Given the description of an element on the screen output the (x, y) to click on. 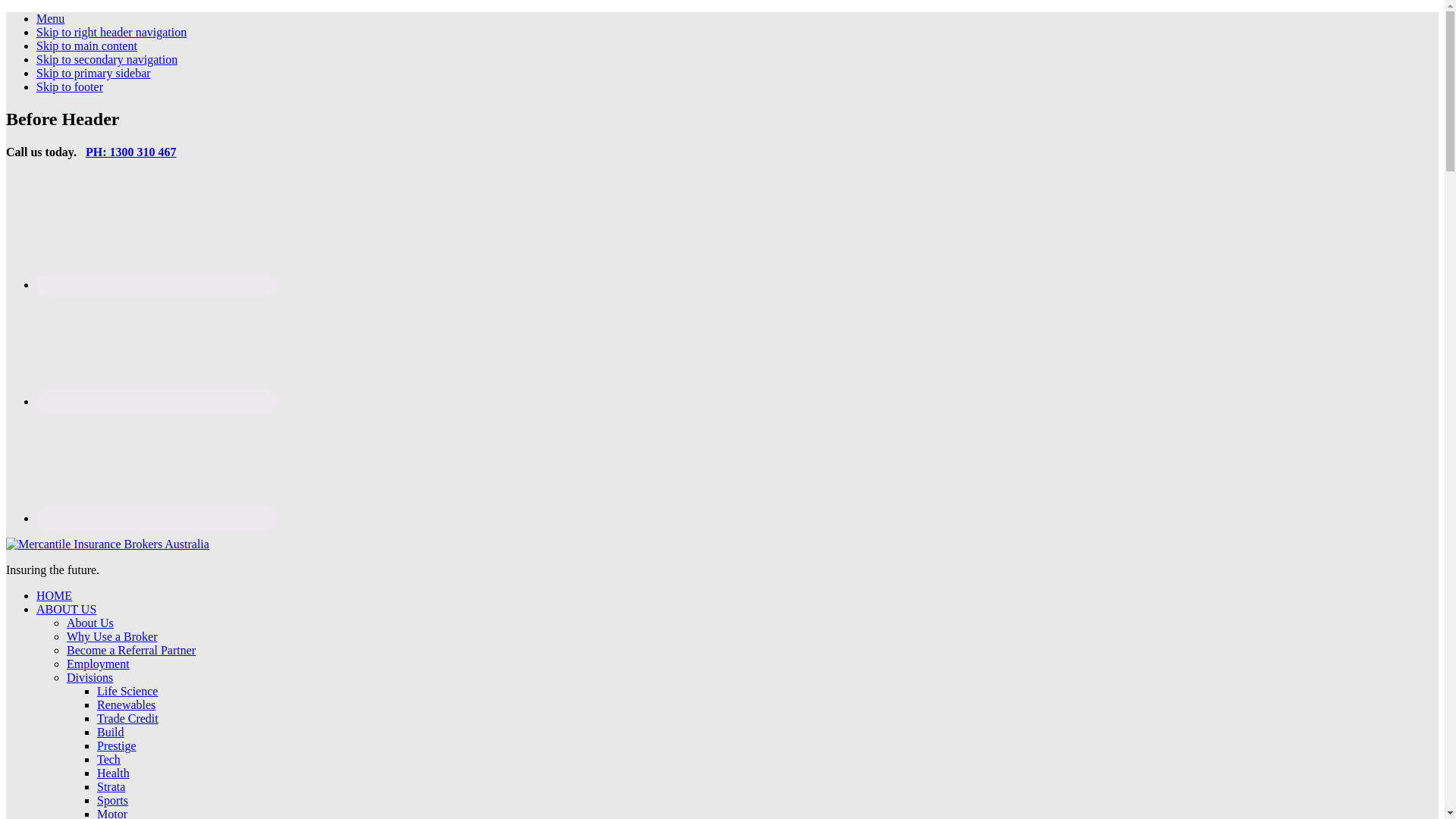
Why Use a Broker Element type: text (111, 636)
Renewables Element type: text (126, 704)
Strata Element type: text (111, 786)
ABOUT US Element type: text (66, 608)
Divisions Element type: text (89, 677)
Menu Element type: text (50, 18)
Skip to primary sidebar Element type: text (93, 72)
Build Element type: text (110, 731)
About Us Element type: text (89, 622)
Skip to footer Element type: text (69, 86)
Skip to main content Element type: text (86, 45)
Trade Credit Element type: text (127, 718)
PH: 1300 310 467 Element type: text (130, 151)
Life Science Element type: text (127, 690)
LinkedIn Element type: text (156, 401)
Twitter Element type: text (156, 518)
Prestige Element type: text (116, 745)
Tech Element type: text (108, 759)
Skip to secondary navigation Element type: text (106, 59)
Employment Element type: text (97, 663)
Sports Element type: text (112, 799)
Become a Referral Partner Element type: text (130, 649)
Health Element type: text (113, 772)
Facebook Element type: text (156, 285)
Skip to right header navigation Element type: text (111, 31)
HOME Element type: text (54, 595)
